Given the description of an element on the screen output the (x, y) to click on. 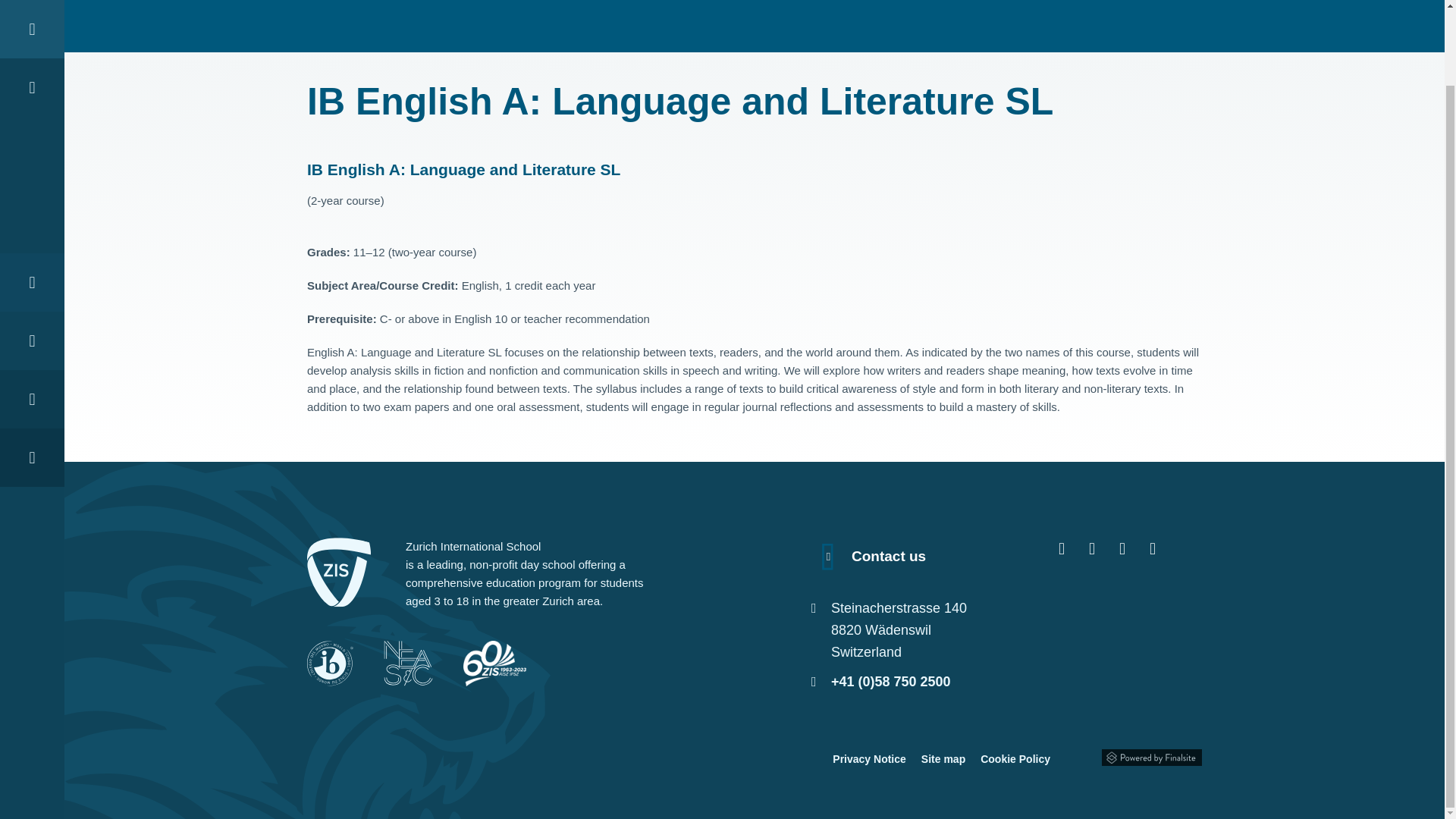
Zurich International School (194, 1)
Powered by Finalsite opens in a new window (1152, 754)
